Given the description of an element on the screen output the (x, y) to click on. 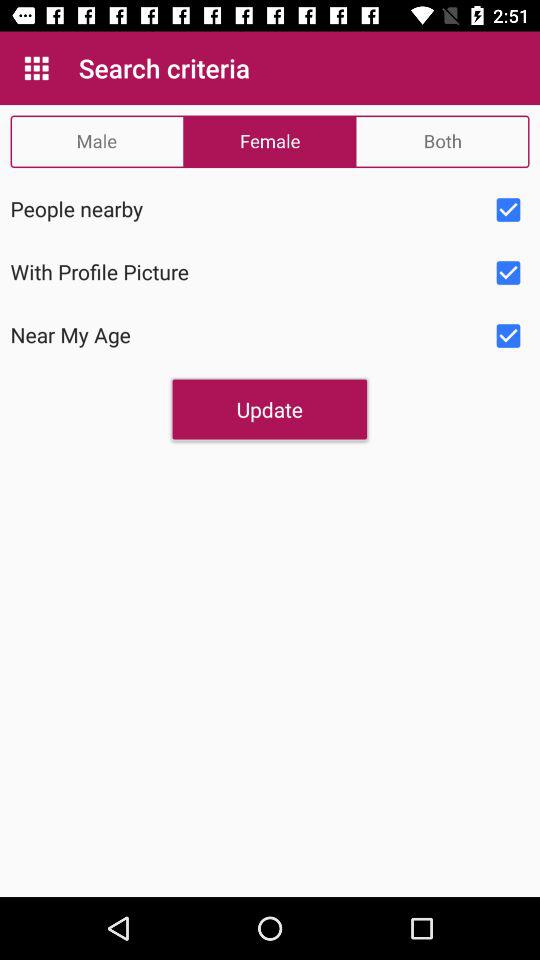
check to obtain profiles from people near you (508, 210)
